Given the description of an element on the screen output the (x, y) to click on. 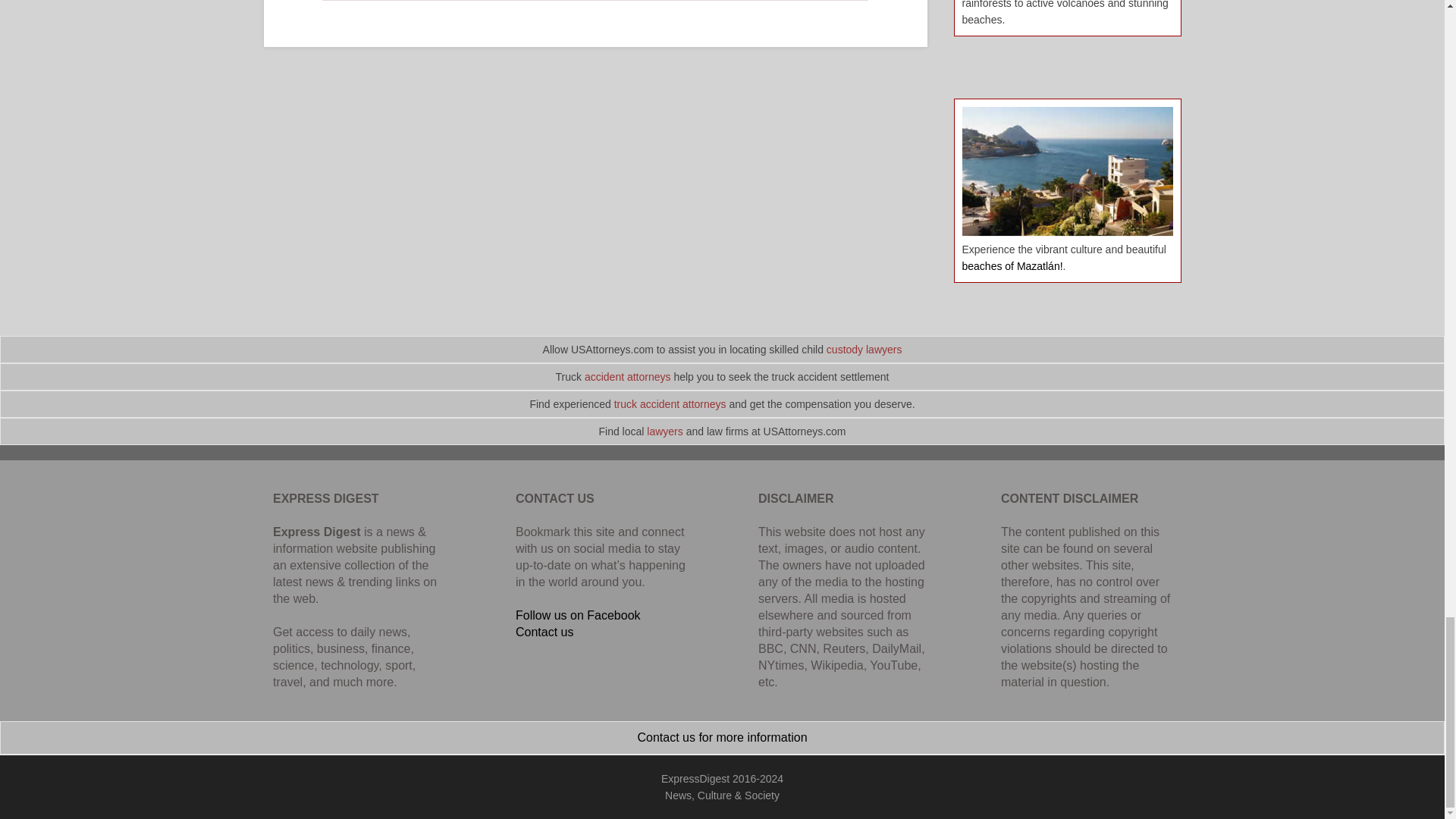
truck accident attorneys (670, 404)
accident attorneys (628, 377)
custody lawyers (864, 349)
lawyers (664, 431)
